Given the description of an element on the screen output the (x, y) to click on. 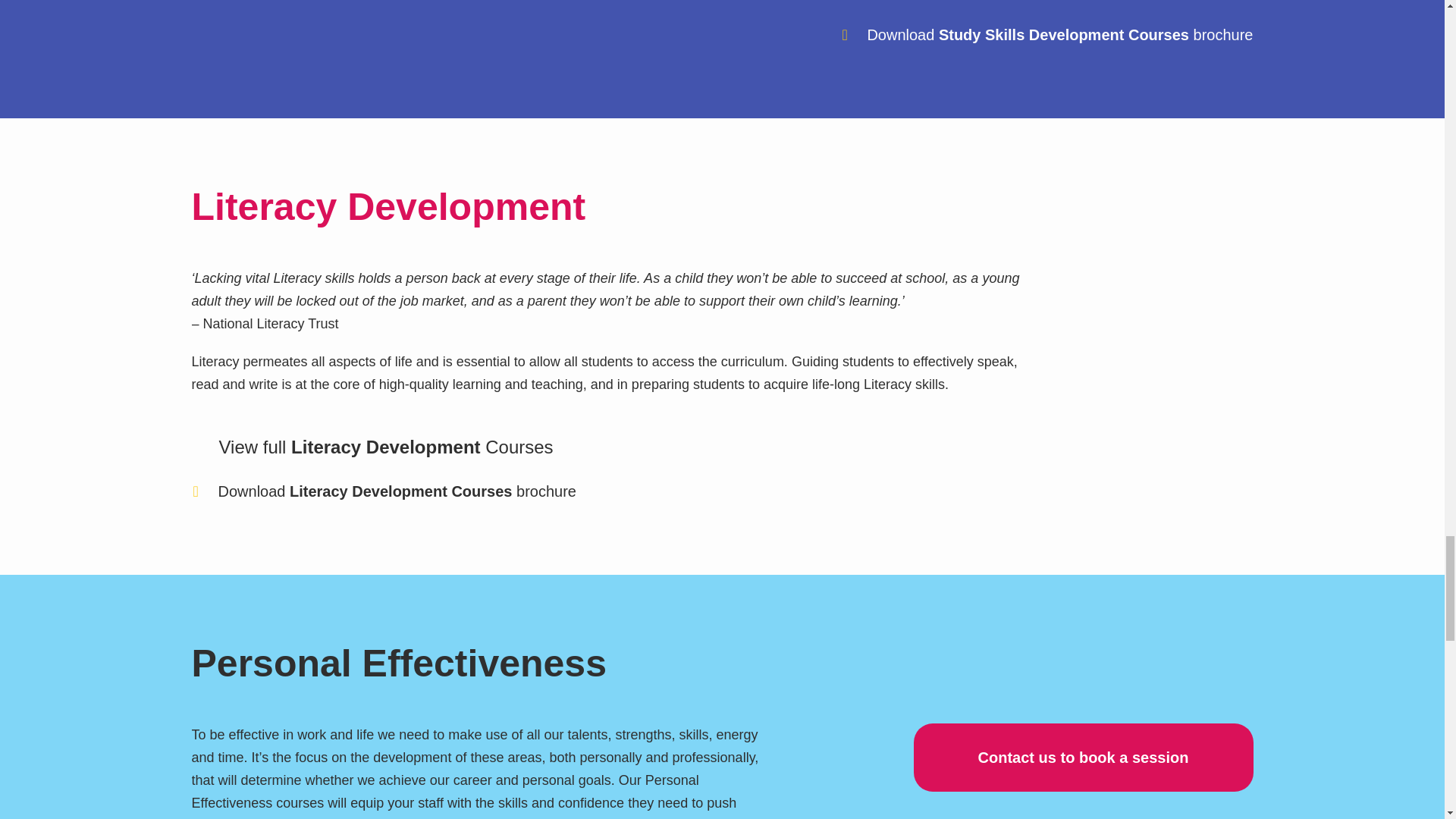
Book now (1082, 757)
